Given the description of an element on the screen output the (x, y) to click on. 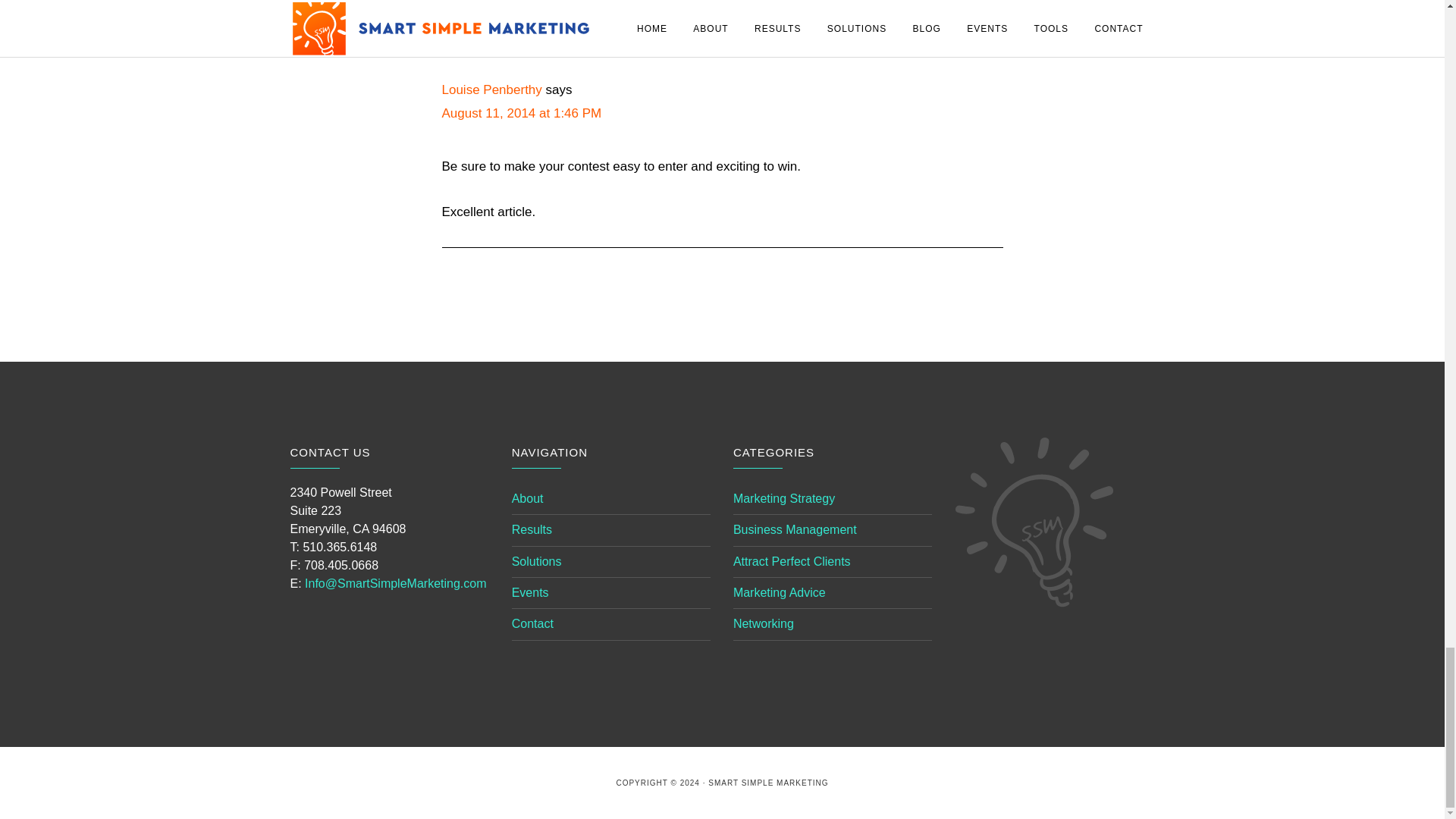
August 11, 2014 at 1:46 PM (521, 113)
Contact (532, 623)
Results (531, 529)
About (527, 498)
Events (530, 592)
Louise Penberthy (491, 89)
Solutions (537, 561)
